Given the description of an element on the screen output the (x, y) to click on. 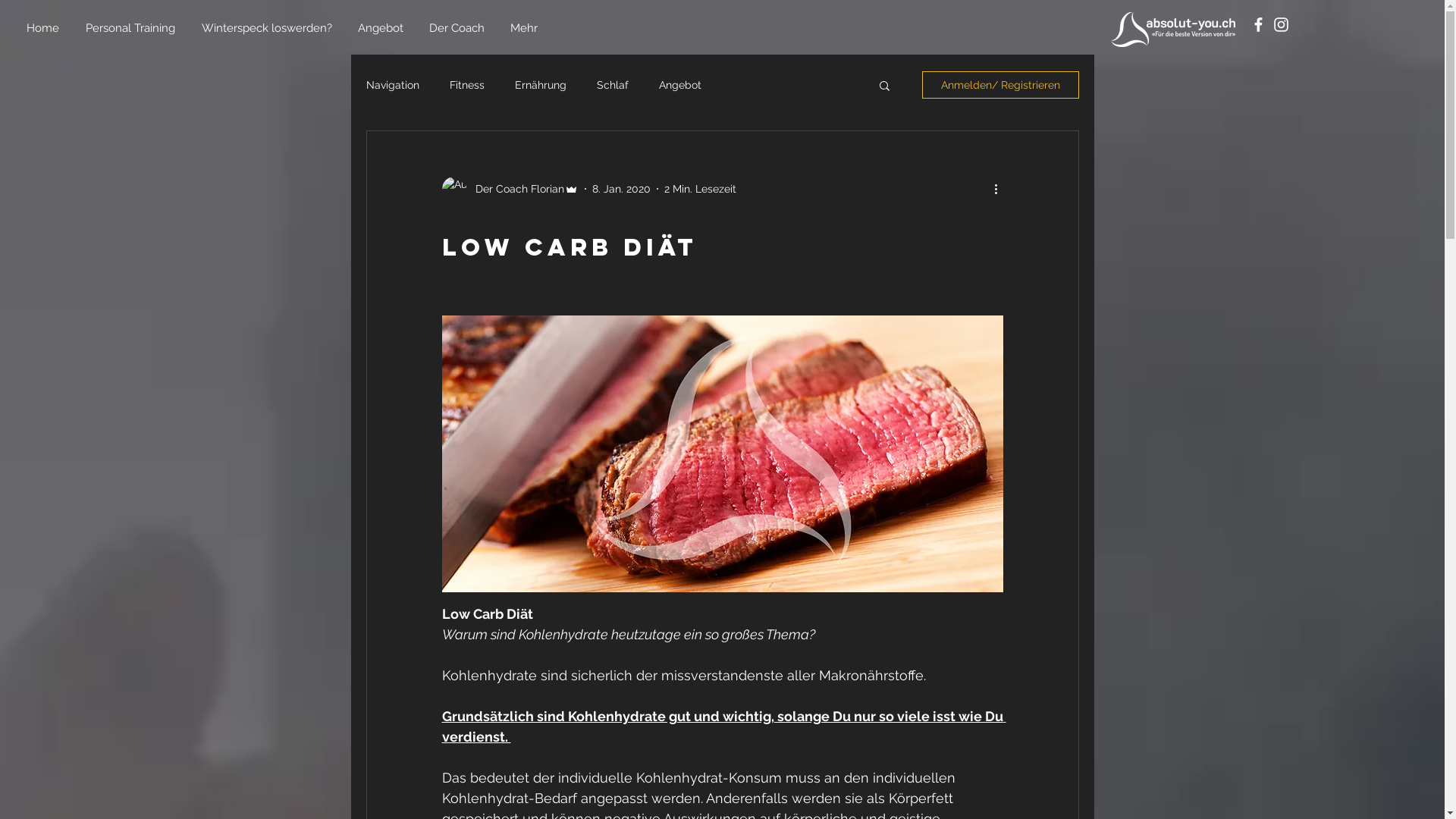
Anmelden/ Registrieren Element type: text (1000, 84)
Home Element type: text (44, 28)
Der Coach Element type: text (457, 28)
Winterspeck loswerden? Element type: text (268, 28)
Angebot Element type: text (679, 84)
Navigation Element type: text (391, 84)
Fitness Element type: text (465, 84)
Schlaf Element type: text (611, 84)
Personal Training Element type: text (132, 28)
Angebot Element type: text (381, 28)
